Given the description of an element on the screen output the (x, y) to click on. 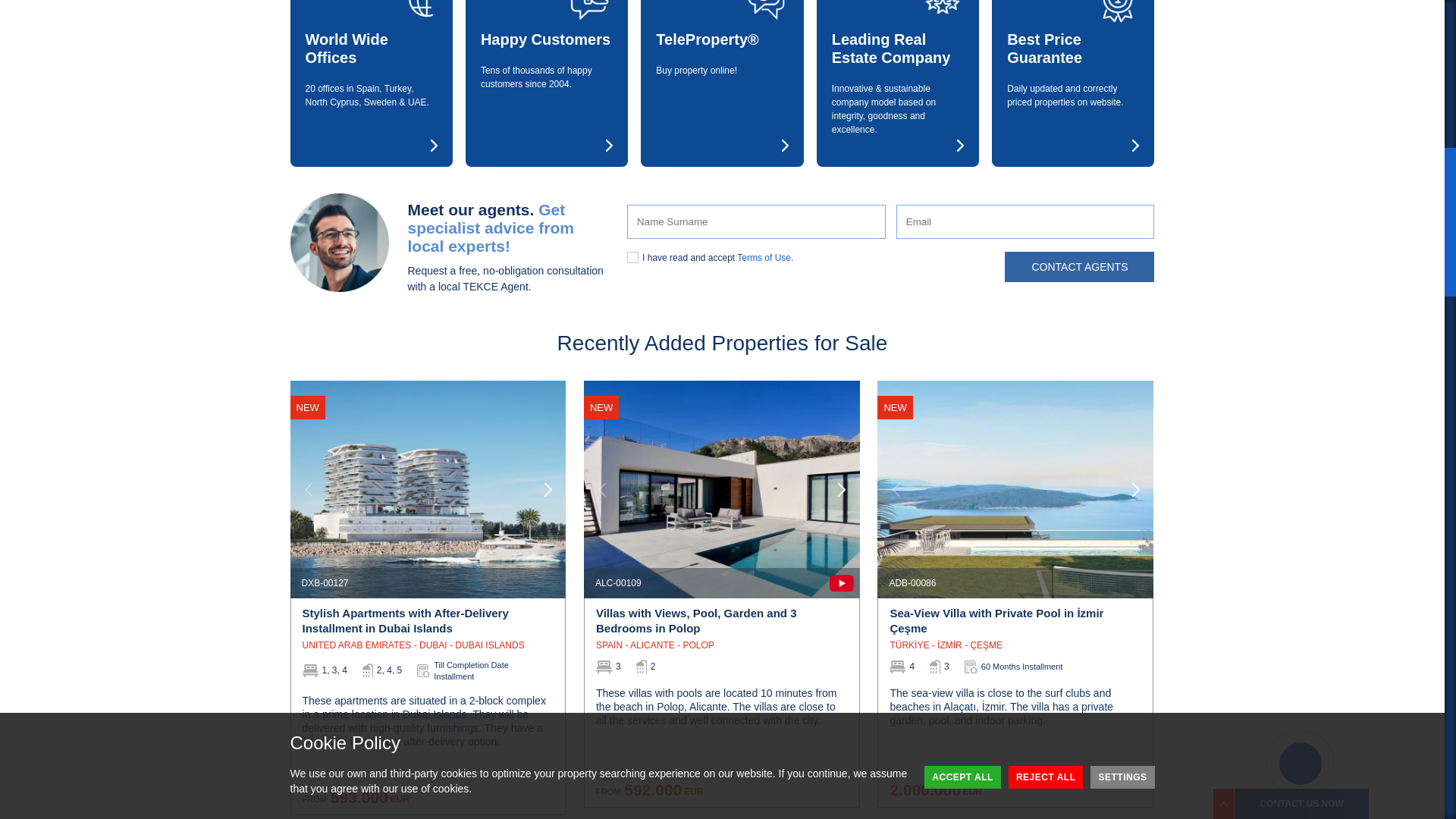
World Wide Offices (370, 48)
Best Price Guarantee (1072, 48)
Happy Customers (546, 39)
Leading Real Estate Company (897, 48)
Villas with Views, Pool, Garden and 3 Bedrooms in Polop (721, 622)
on (633, 256)
